Given the description of an element on the screen output the (x, y) to click on. 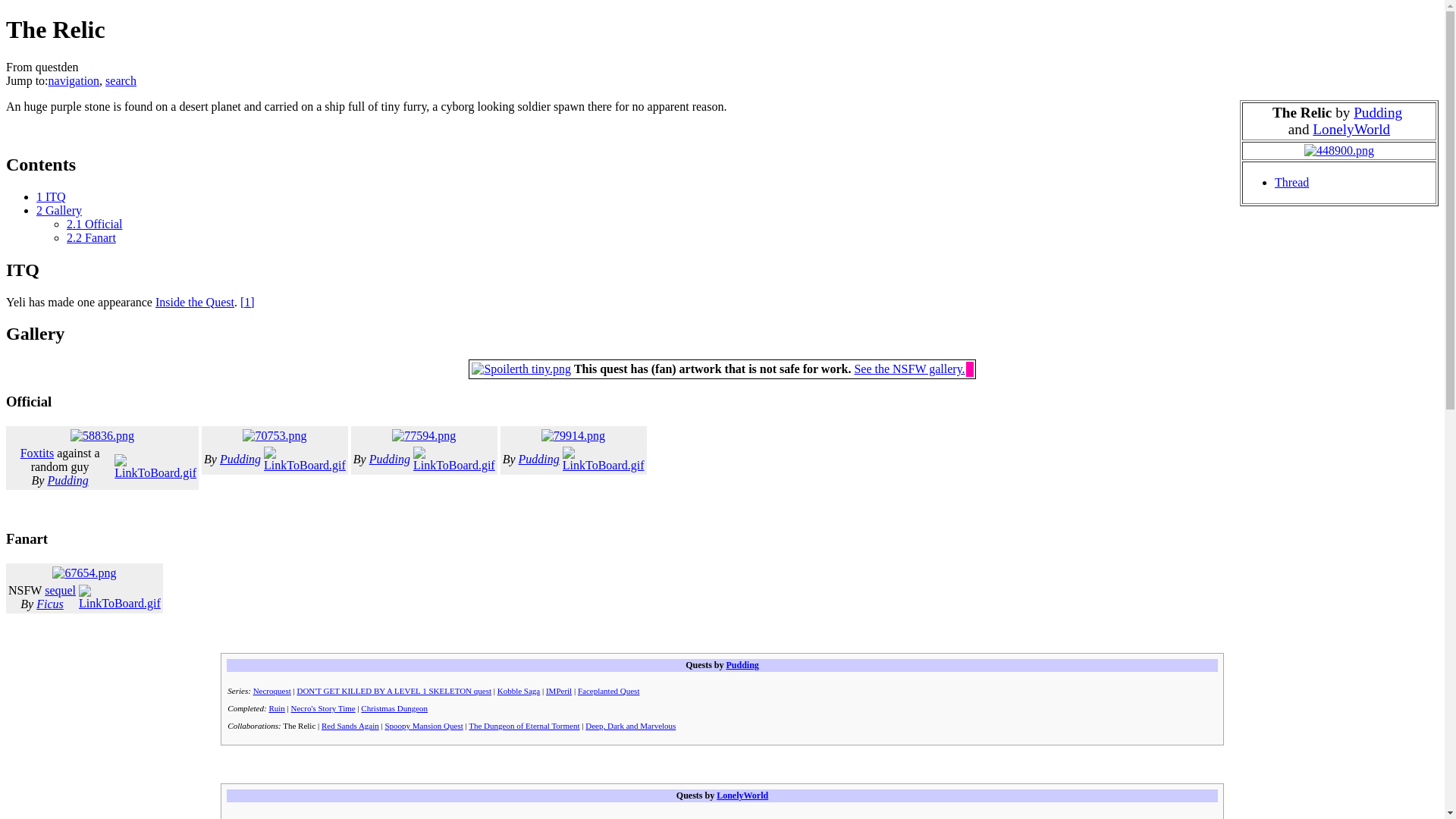
Pudding (239, 459)
Pudding (741, 665)
Ficus (50, 603)
DON'T GET KILLED BY A LEVEL 1 SKELETON quest (394, 690)
Pudding (66, 480)
LonelyWorld (1351, 129)
Kobble Saga (518, 690)
LonelyWorld (1351, 129)
Inside the Quest (194, 301)
sequel (60, 590)
Inside the Quest (194, 301)
Necro's Story Time (323, 707)
2.2 Fanart (91, 237)
Necroquest (272, 690)
Pudding (389, 459)
